Given the description of an element on the screen output the (x, y) to click on. 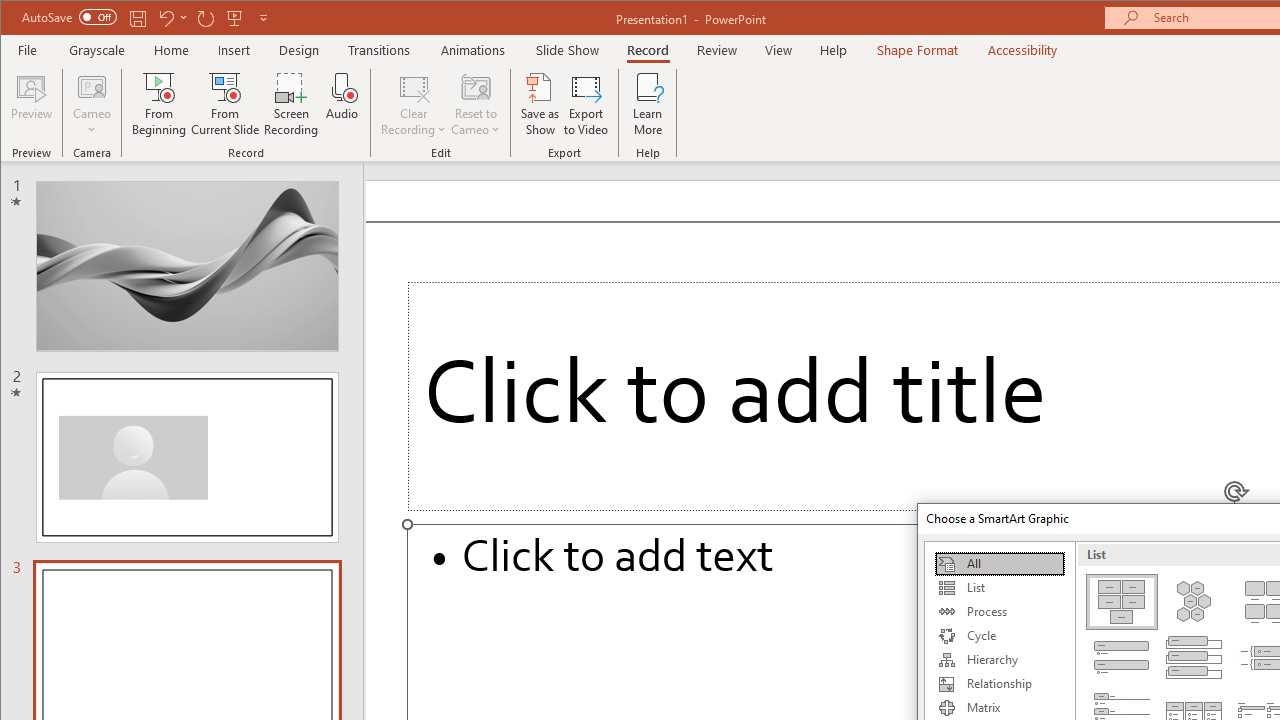
From Current Slide... (225, 104)
Vertical Box List (1194, 658)
Matrix (999, 708)
Export to Video (585, 104)
From Beginning... (159, 104)
Audio (342, 104)
